Given the description of an element on the screen output the (x, y) to click on. 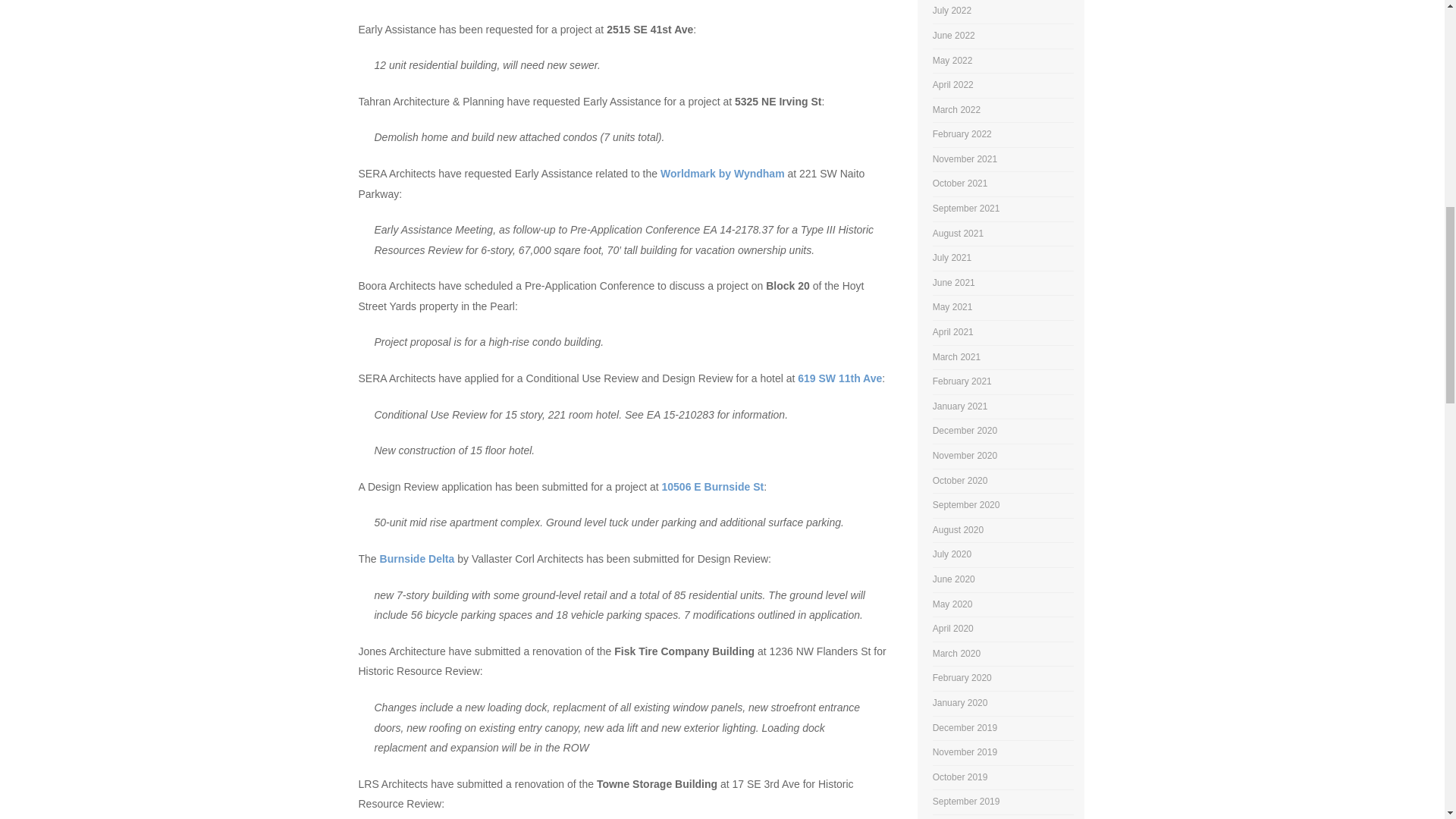
619 SW 11th Ave (839, 378)
10506 E Burnside St (713, 486)
Burnside Delta (417, 558)
Worldmark by Wyndham (722, 173)
